Given the description of an element on the screen output the (x, y) to click on. 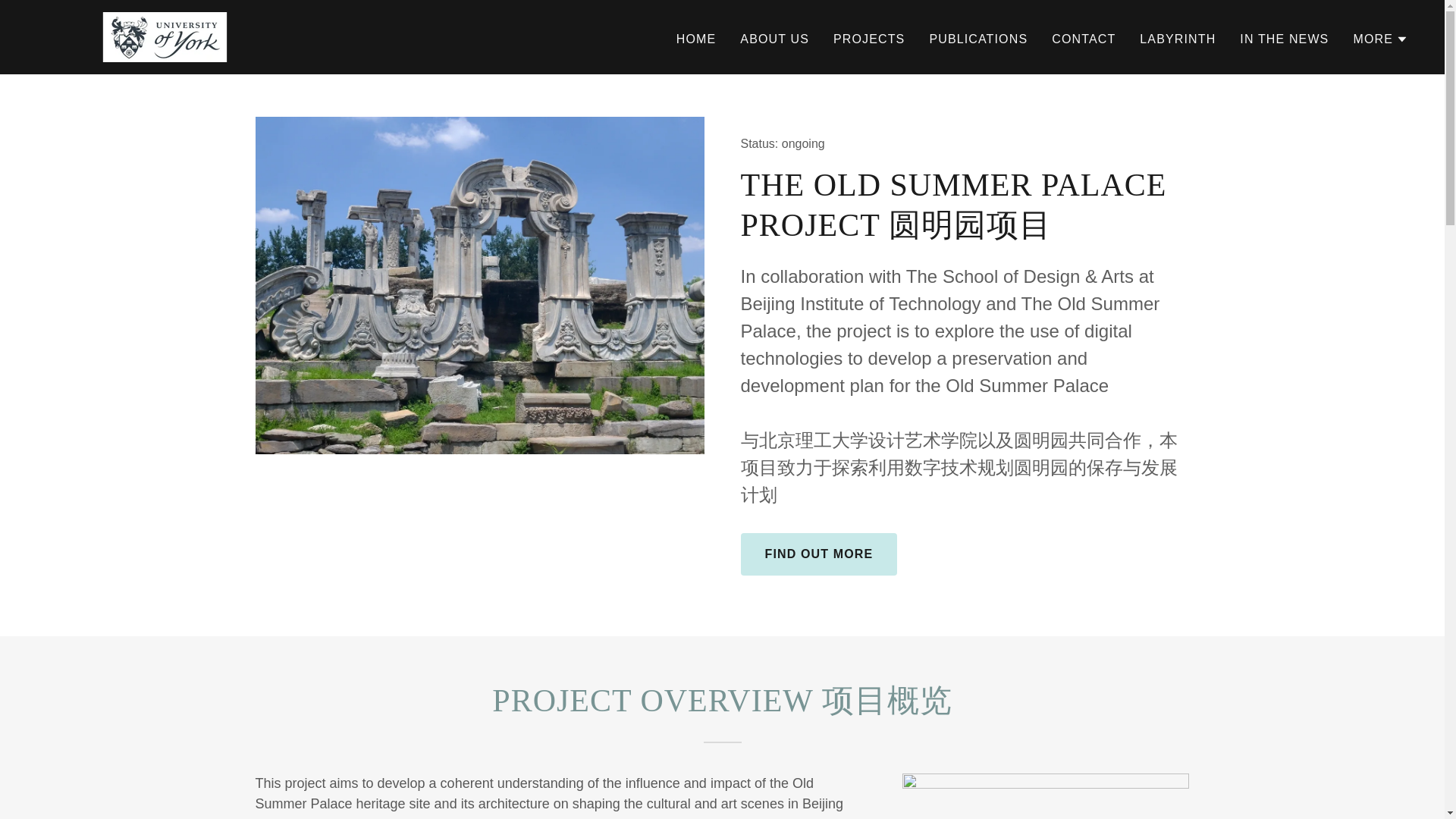
PUBLICATIONS (978, 39)
MORE (1379, 39)
ABOUT US (774, 39)
FIND OUT MORE (817, 554)
IN THE NEWS (1283, 39)
LABYRINTH (1177, 39)
PROJECTS (868, 39)
HOME (695, 39)
CONTACT (1082, 39)
